Given the description of an element on the screen output the (x, y) to click on. 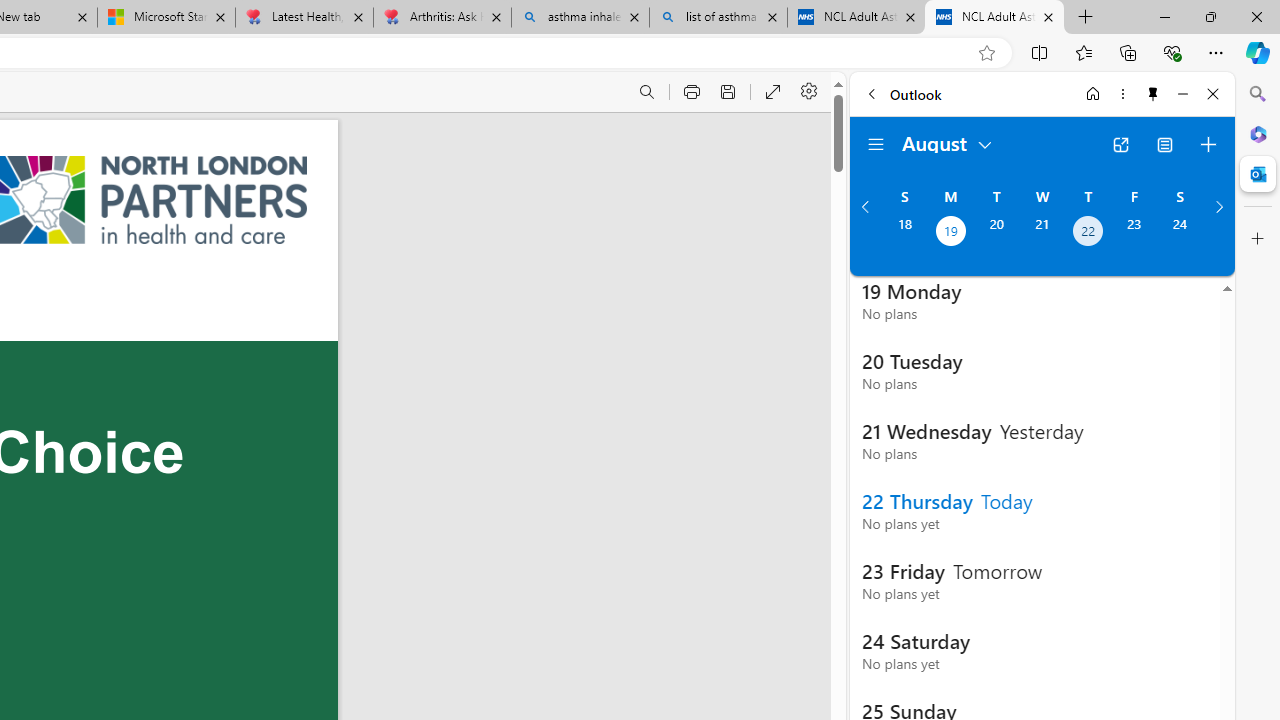
Find (Ctrl + F) (646, 92)
Sunday, August 18, 2024.  (904, 233)
Create event (1208, 144)
Enter PDF full screen (773, 92)
Save (Ctrl+S) (728, 92)
